Given the description of an element on the screen output the (x, y) to click on. 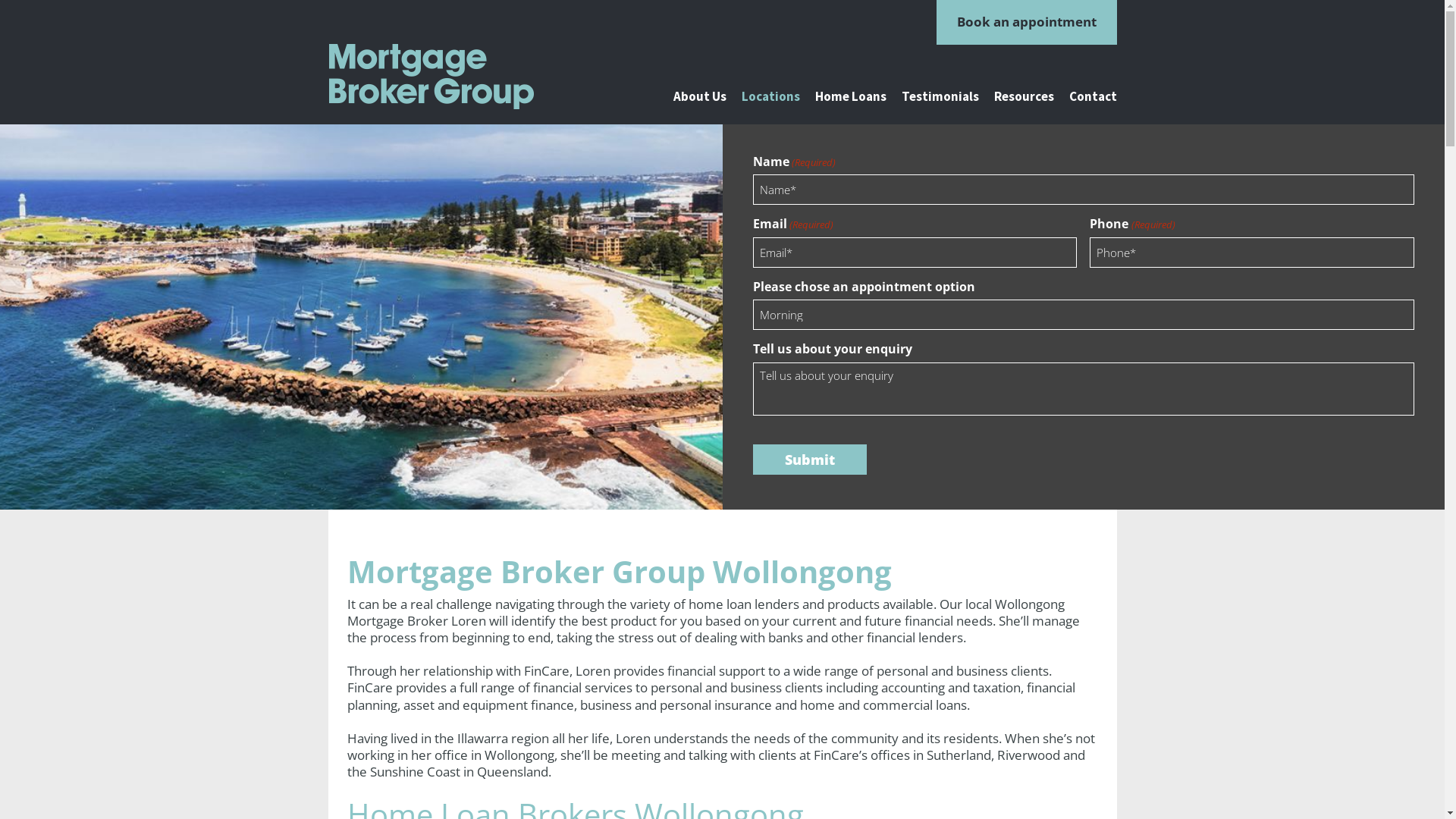
Book an appointment Element type: text (1025, 22)
About Us Element type: text (699, 96)
Home Loans Element type: text (849, 96)
Contact Element type: text (1093, 96)
Resources Element type: text (1023, 96)
Submit Element type: text (809, 459)
logo Element type: text (449, 76)
Locations Element type: text (770, 96)
Testimonials Element type: text (939, 96)
